Given the description of an element on the screen output the (x, y) to click on. 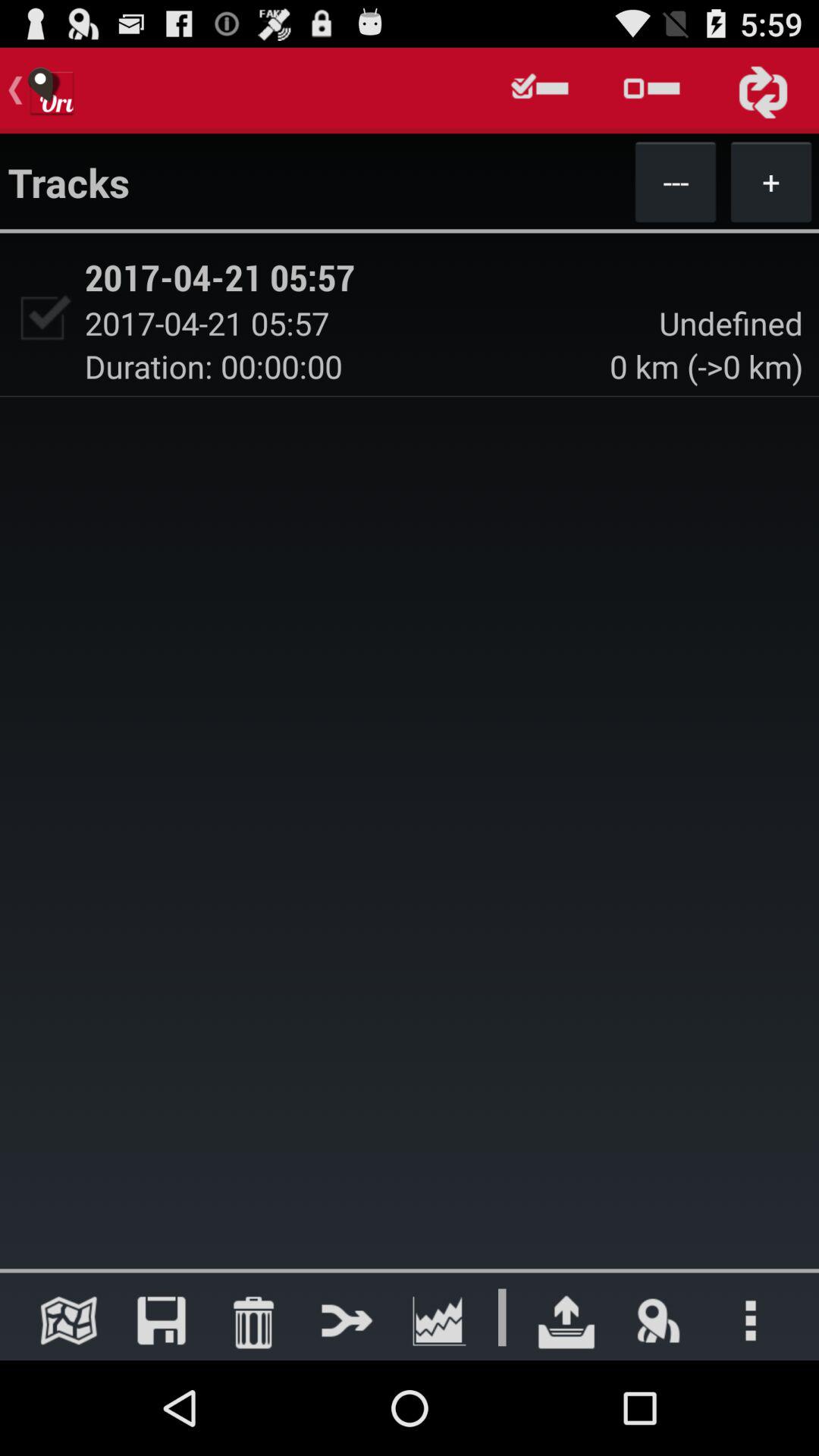
view map (68, 1320)
